Given the description of an element on the screen output the (x, y) to click on. 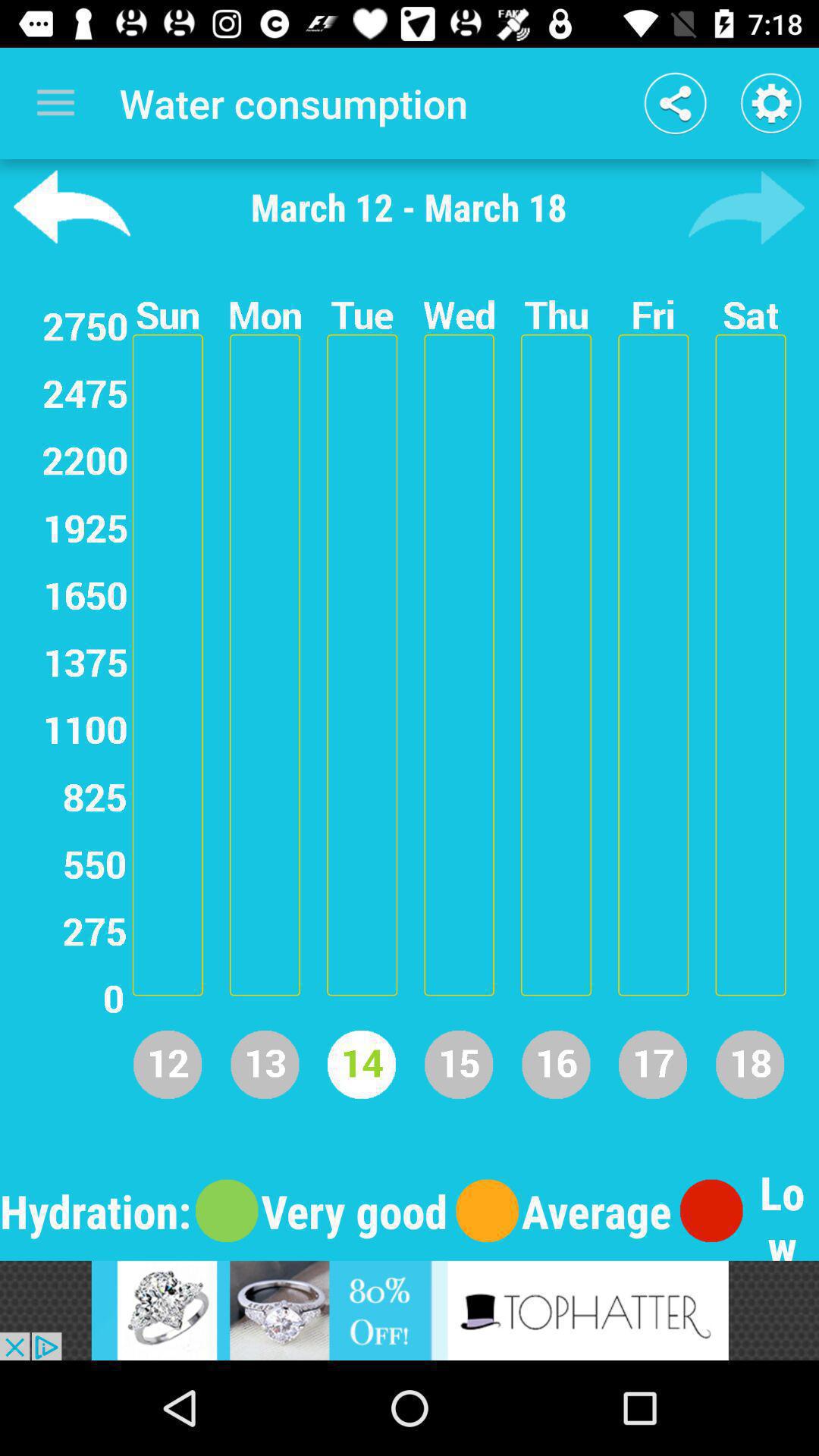
go back (71, 207)
